Given the description of an element on the screen output the (x, y) to click on. 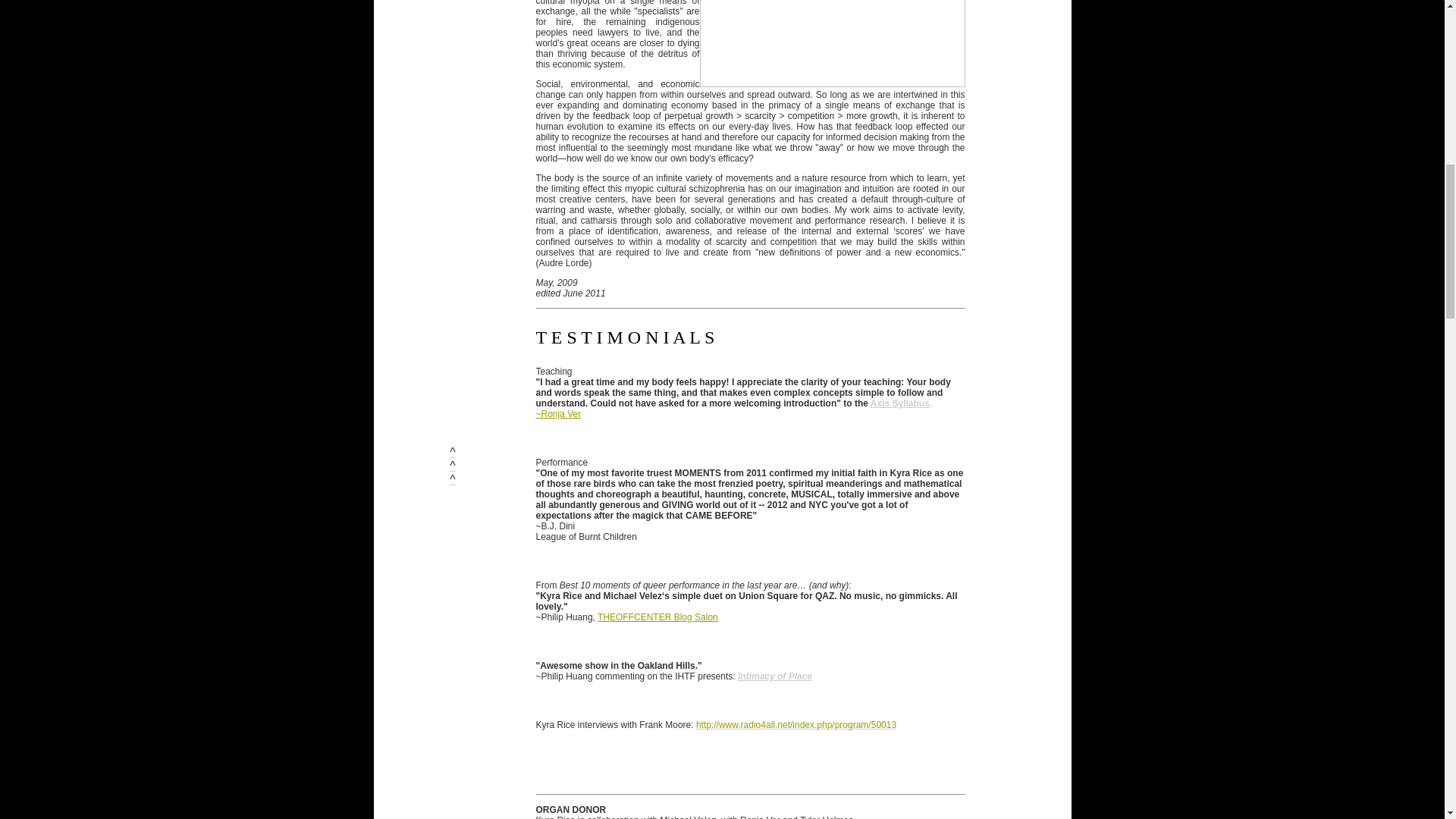
THEOFFCENTER Blog Salon (656, 616)
Ronja Ver (759, 816)
Tyler Holmes (826, 816)
Axis Syllabus. (900, 403)
Intimacy of Place (775, 675)
